Given the description of an element on the screen output the (x, y) to click on. 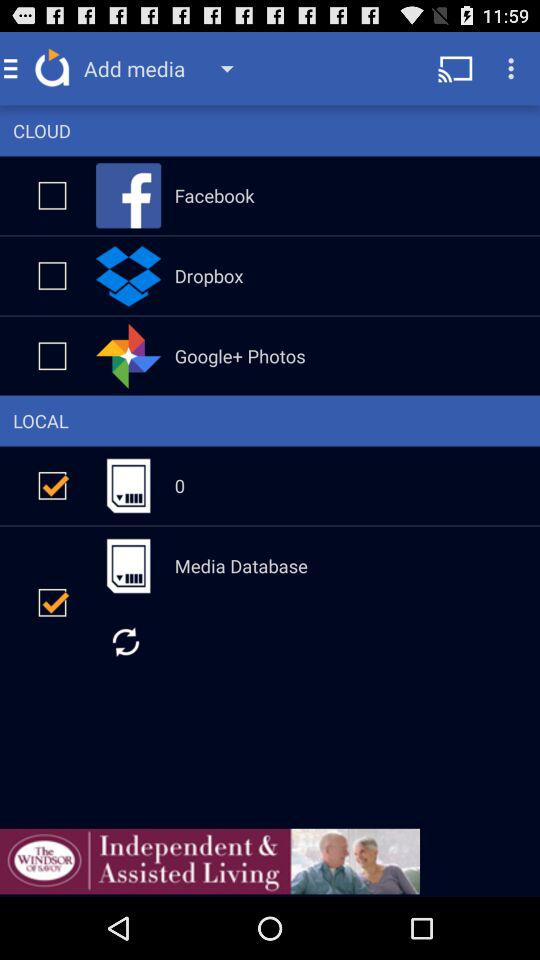
undo checked option (52, 602)
